Given the description of an element on the screen output the (x, y) to click on. 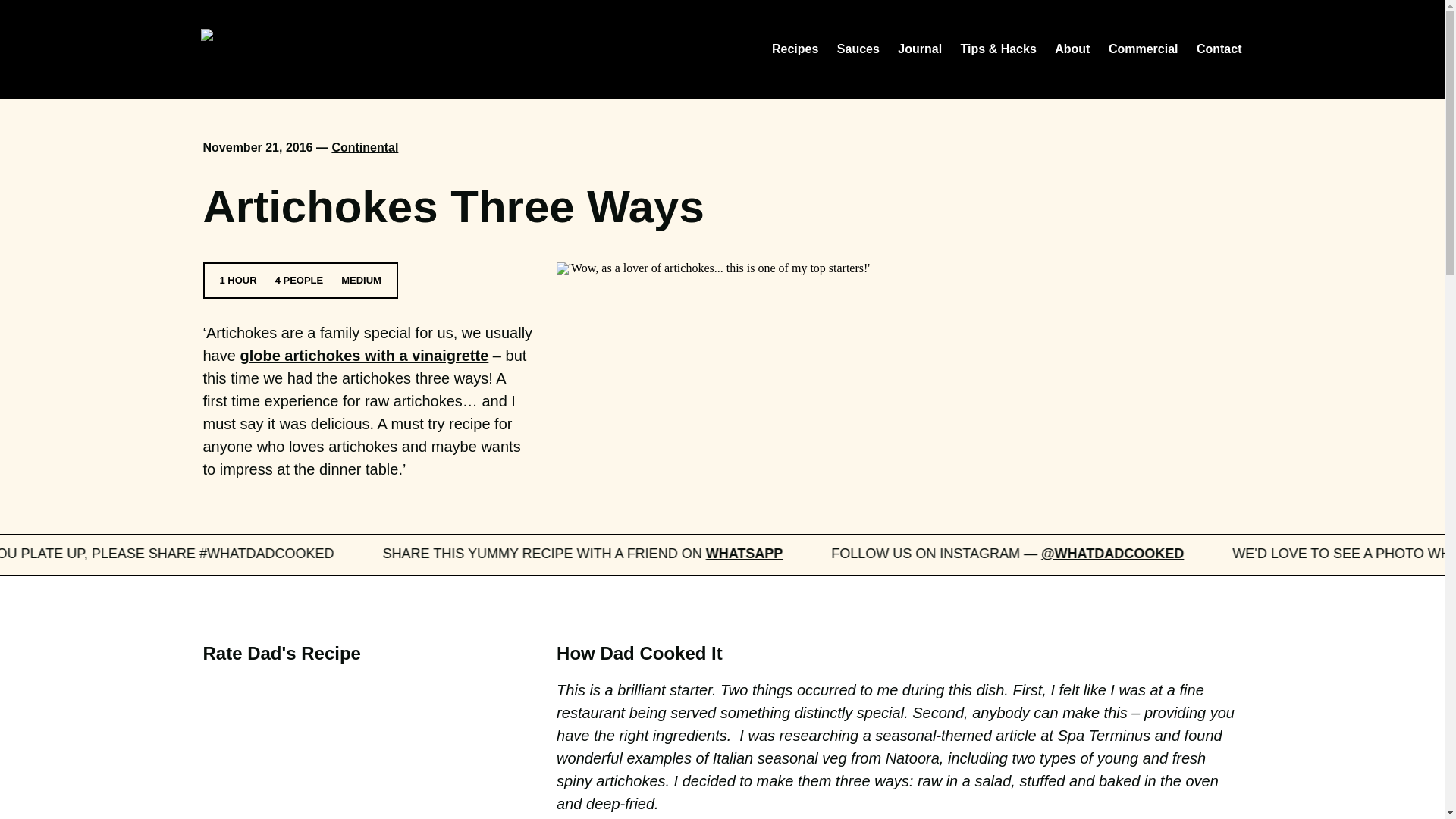
Share Dad's Artichokes Three Ways Recipe on WhatsApp (889, 553)
Commercial (1142, 48)
Journal (920, 48)
Check out Dad's other Continental recipes (364, 146)
globe artichokes with a vinaigrette (363, 355)
Follow What Dad Cooked on Instagram (1253, 553)
Contact (1218, 48)
Recipes (794, 48)
WHATSAPP (962, 553)
About (1071, 48)
